Given the description of an element on the screen output the (x, y) to click on. 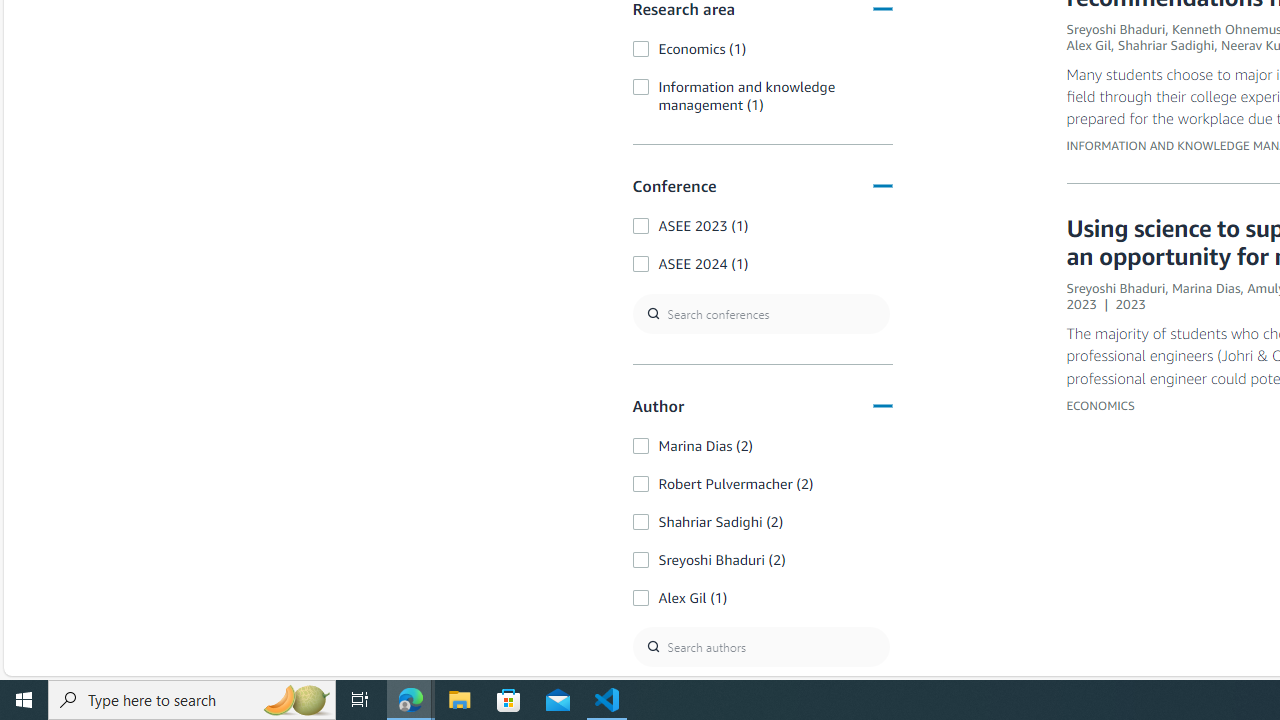
Search conferences (760, 313)
Alex Gil (1089, 45)
ECONOMICS (1100, 404)
Sreyoshi Bhaduri (1116, 288)
